Given the description of an element on the screen output the (x, y) to click on. 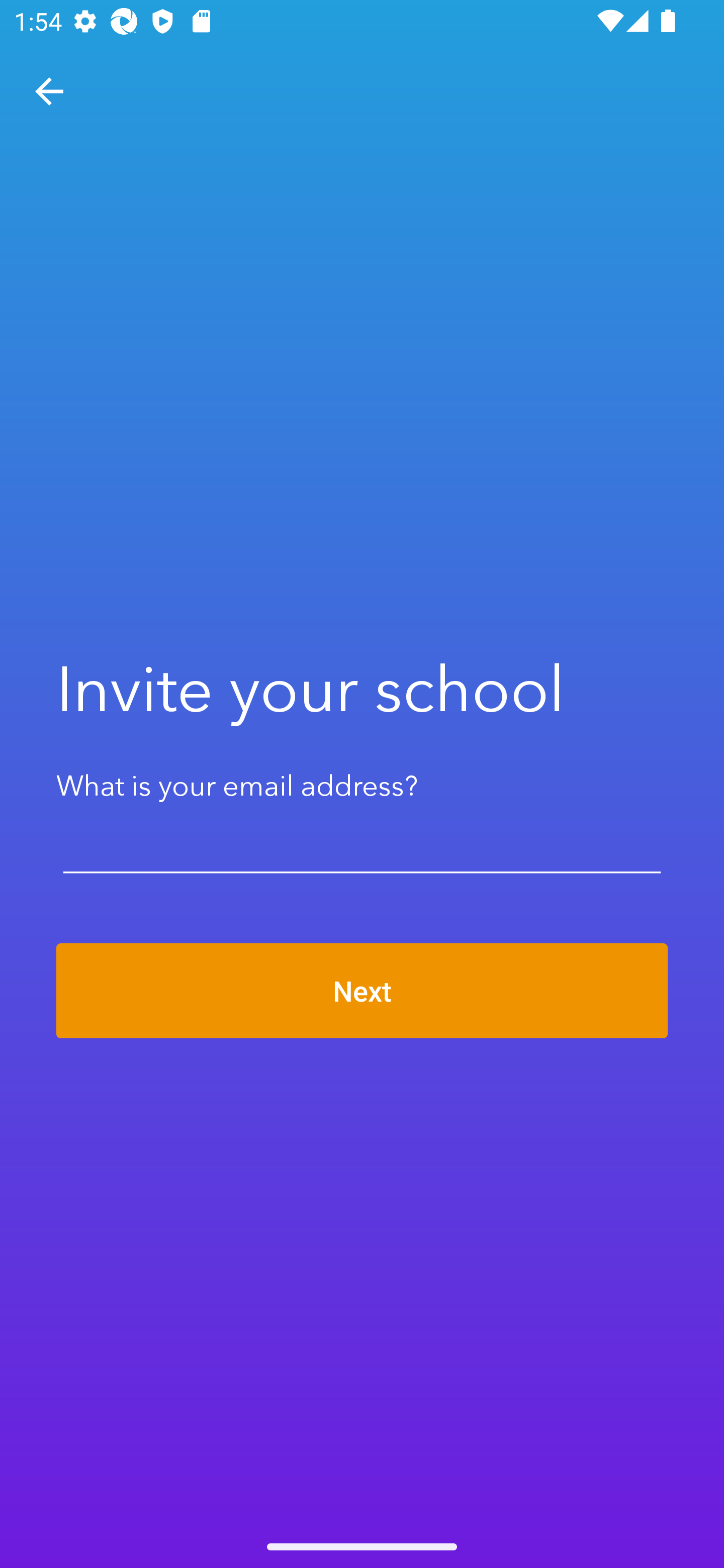
Navigate up (49, 91)
Next (361, 990)
